Given the description of an element on the screen output the (x, y) to click on. 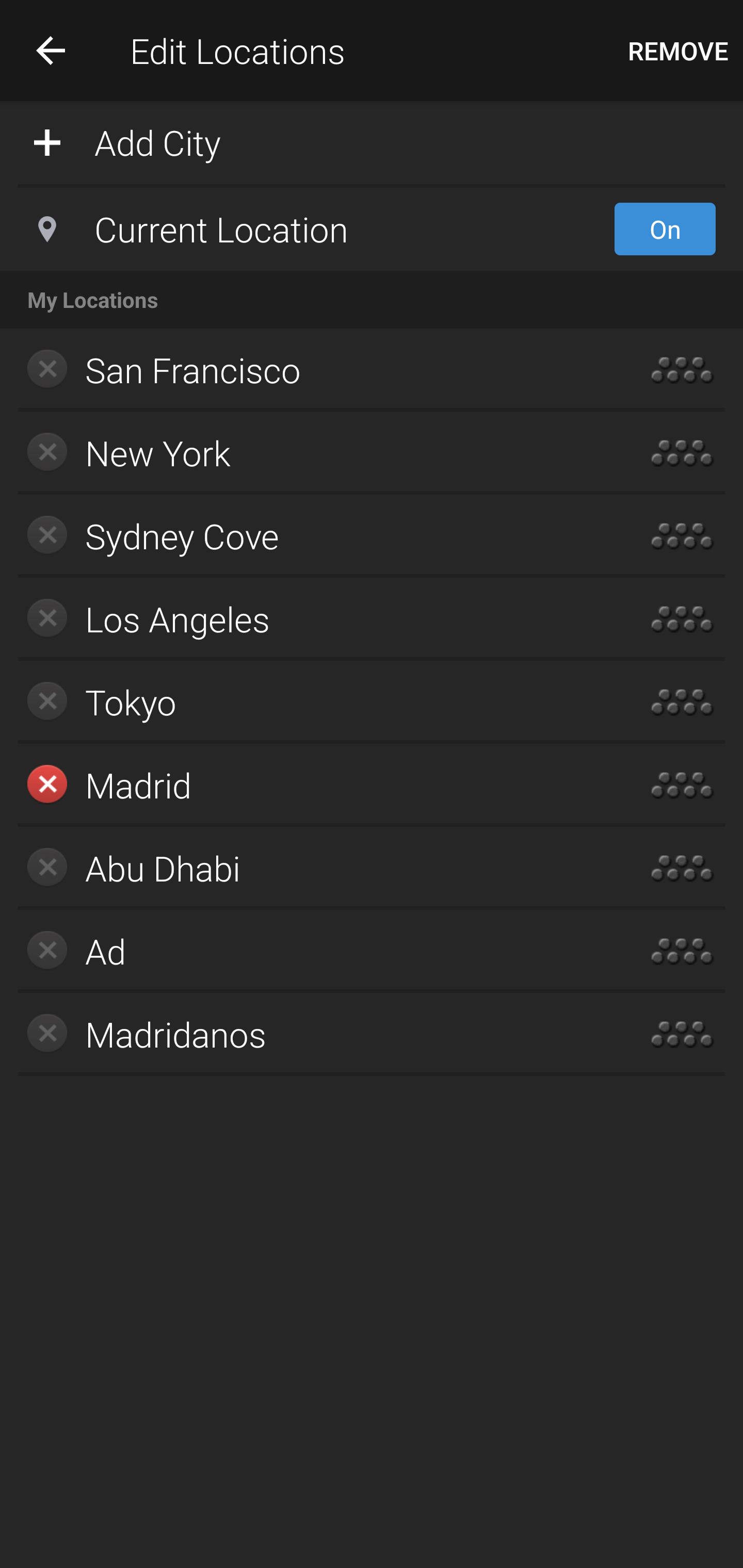
Navigate up (50, 50)
REMOVE (677, 50)
Add City (371, 141)
Current Location: On Current Location On (371, 229)
Delete: San Francisco San Francisco (311, 369)
Delete: New York New York (311, 452)
Delete: Sydney Cove Sydney Cove (311, 535)
Delete: Los Angeles Los Angeles (311, 618)
Delete: Tokyo Tokyo (311, 701)
Delete: Madrid: Selected Madrid (311, 784)
Delete: Abu Dhabi Abu Dhabi (311, 867)
Delete: Ad Ad (311, 950)
Delete: Madridanos Madridanos (311, 1033)
